Given the description of an element on the screen output the (x, y) to click on. 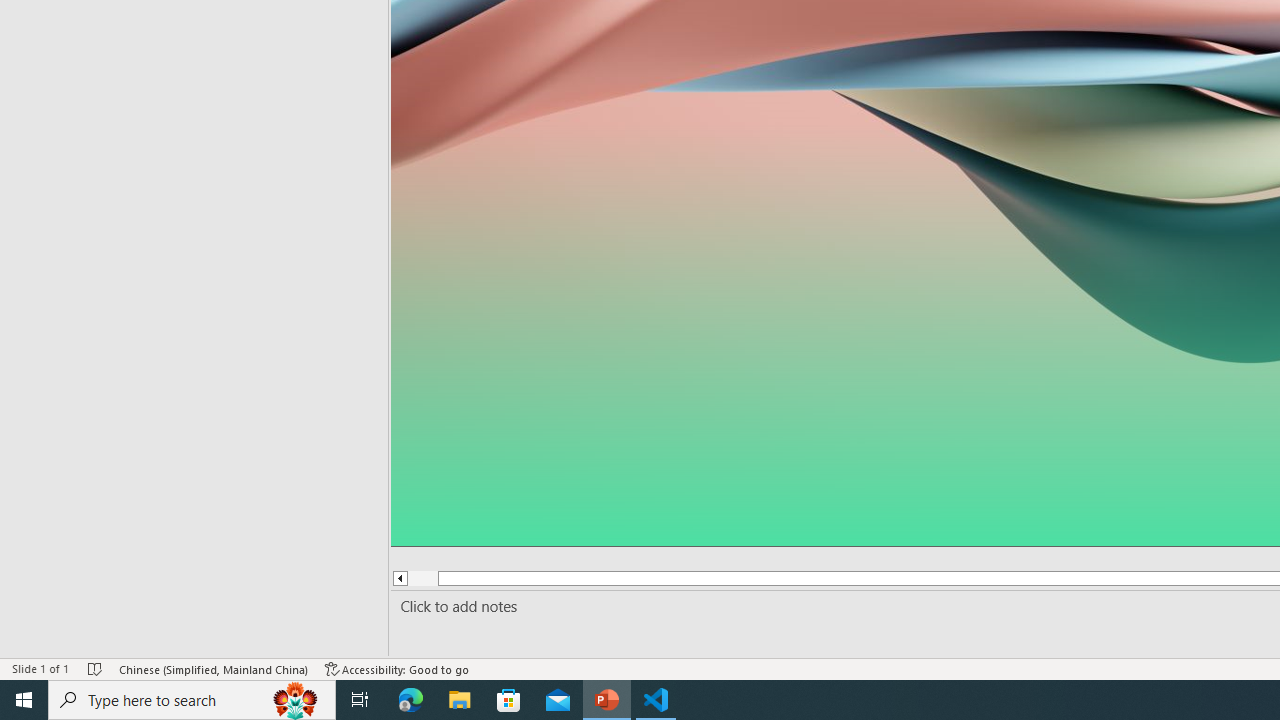
Accessibility Checker Accessibility: Good to go (397, 668)
